Given the description of an element on the screen output the (x, y) to click on. 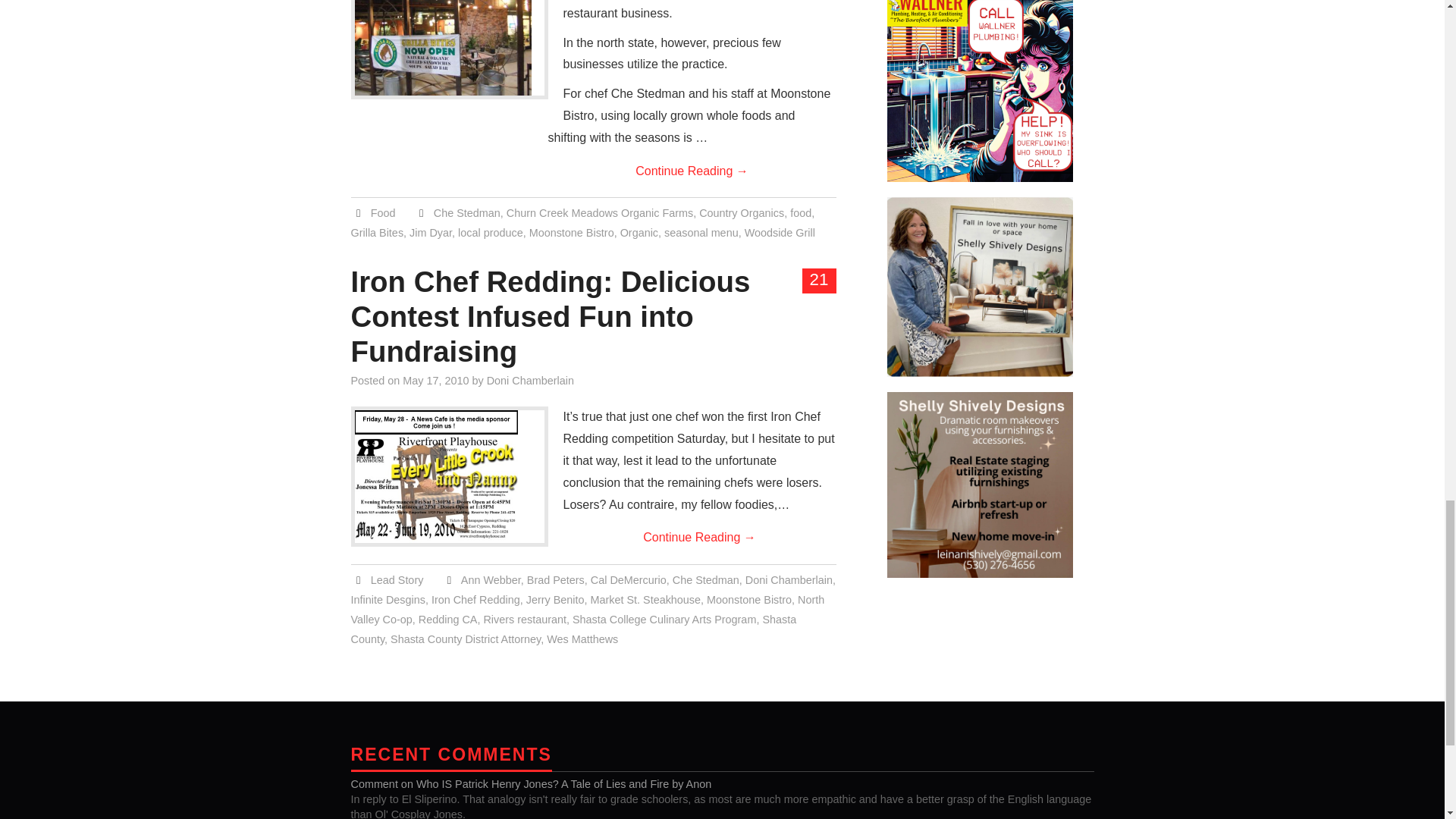
View all posts by Doni Chamberlain (529, 380)
5:00 am (435, 380)
